Given the description of an element on the screen output the (x, y) to click on. 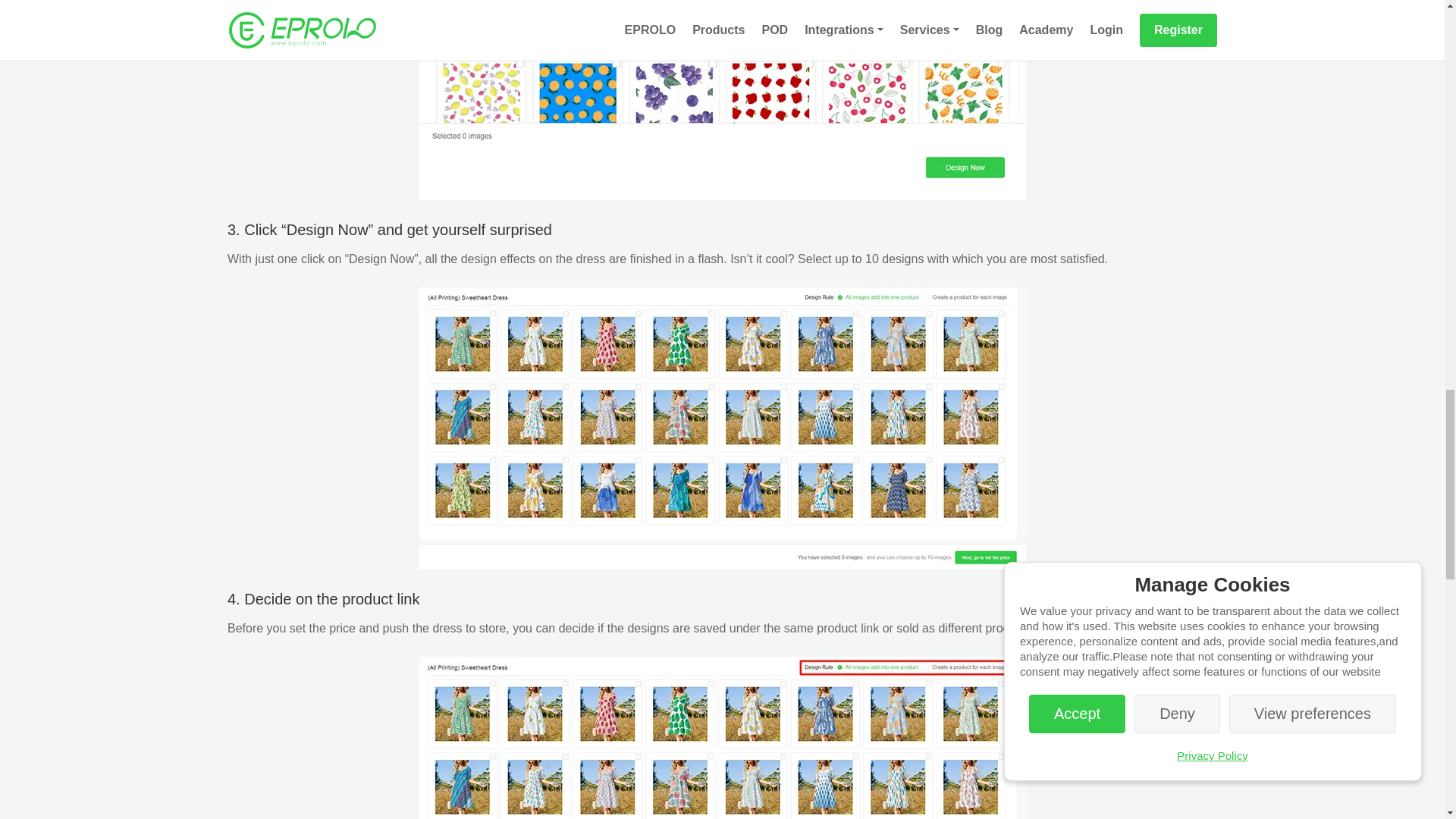
upload (722, 99)
products (722, 737)
